Given the description of an element on the screen output the (x, y) to click on. 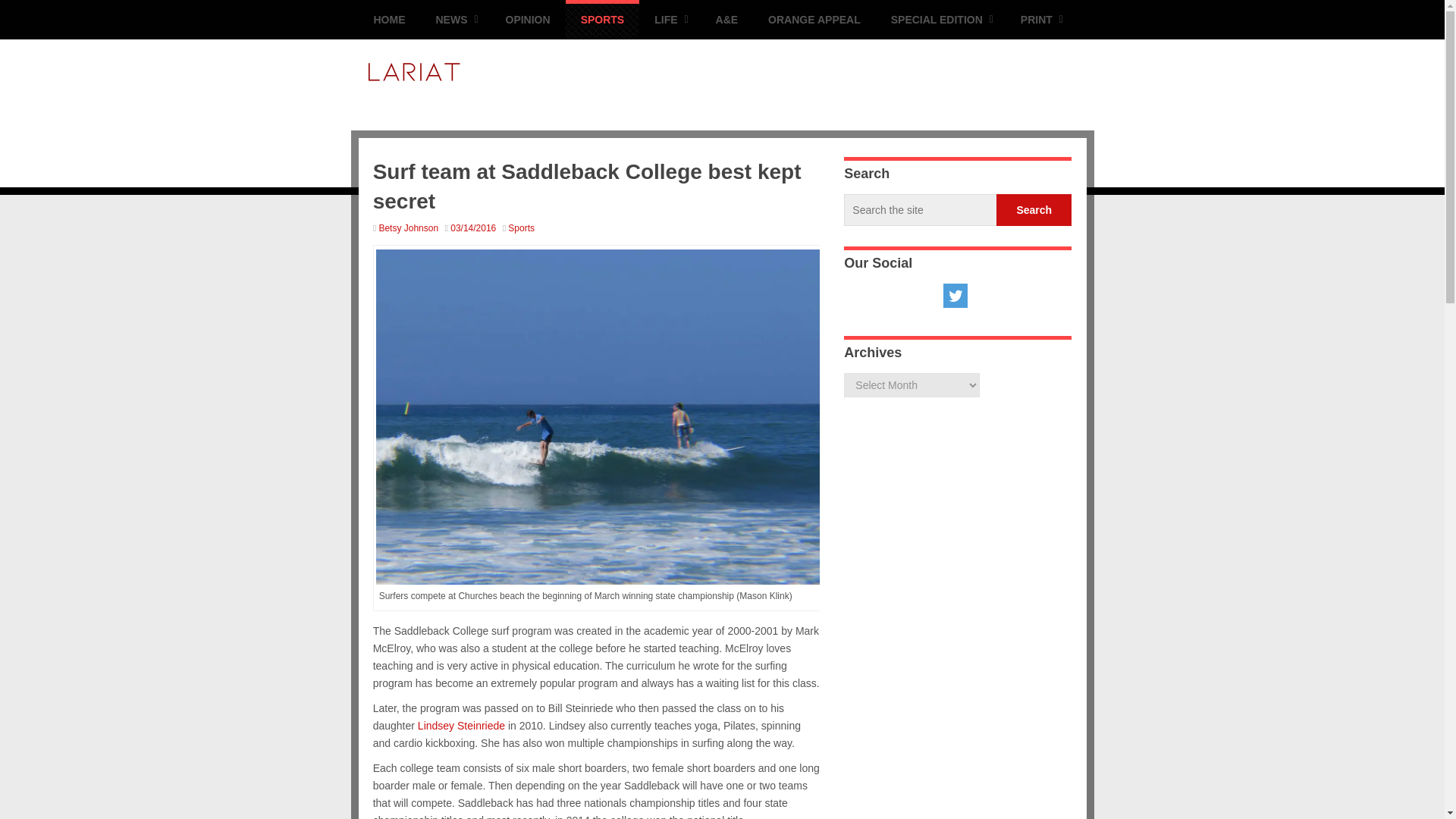
Facebook (891, 295)
SPORTS (603, 19)
ORANGE APPEAL (814, 19)
Twitter (955, 295)
PRINT (1040, 19)
LIFE (669, 19)
Instagram (1018, 295)
Email (859, 295)
SPECIAL EDITION (941, 19)
YouTube (986, 295)
